Given the description of an element on the screen output the (x, y) to click on. 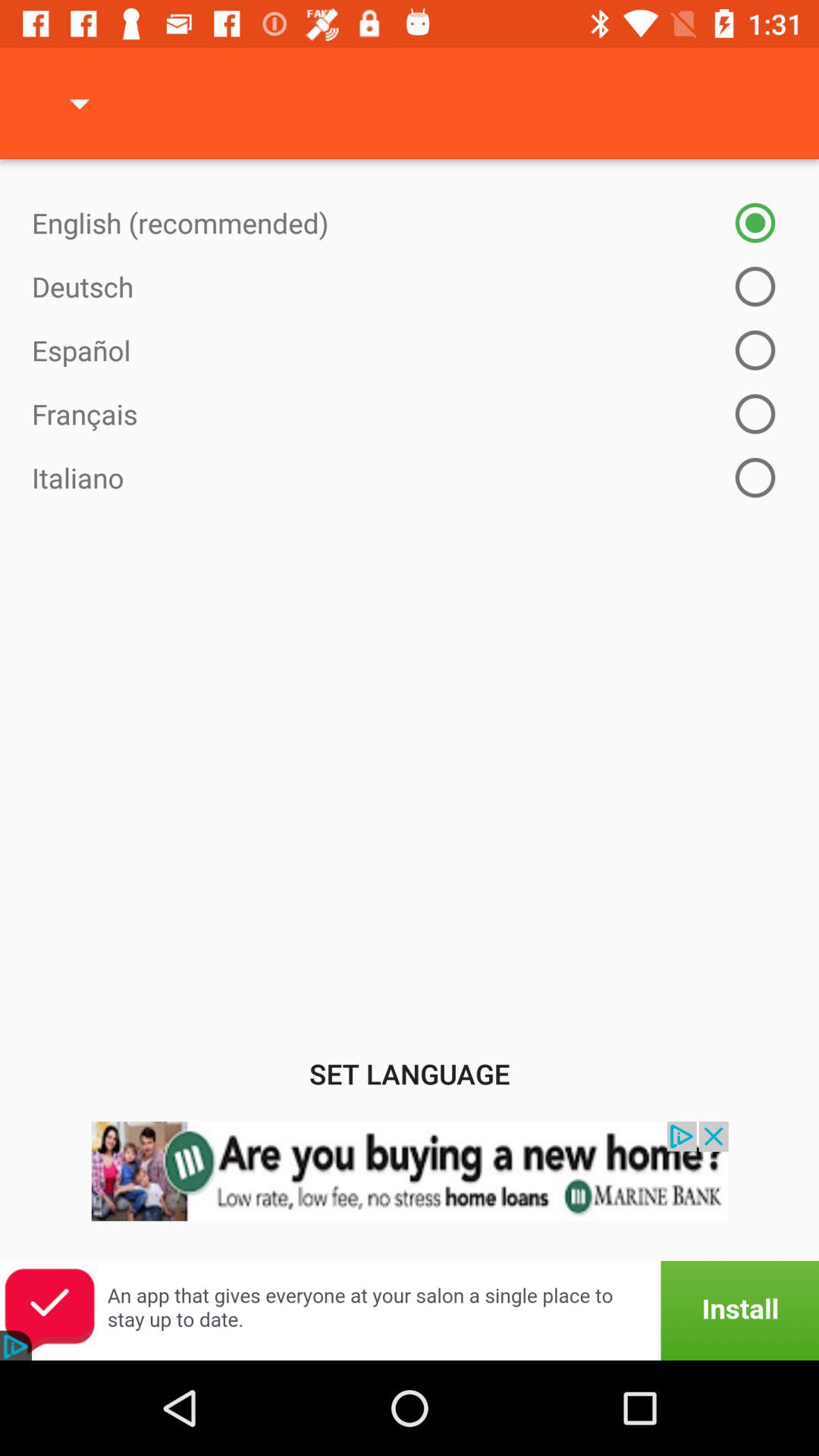
open an advertisements (409, 1310)
